Given the description of an element on the screen output the (x, y) to click on. 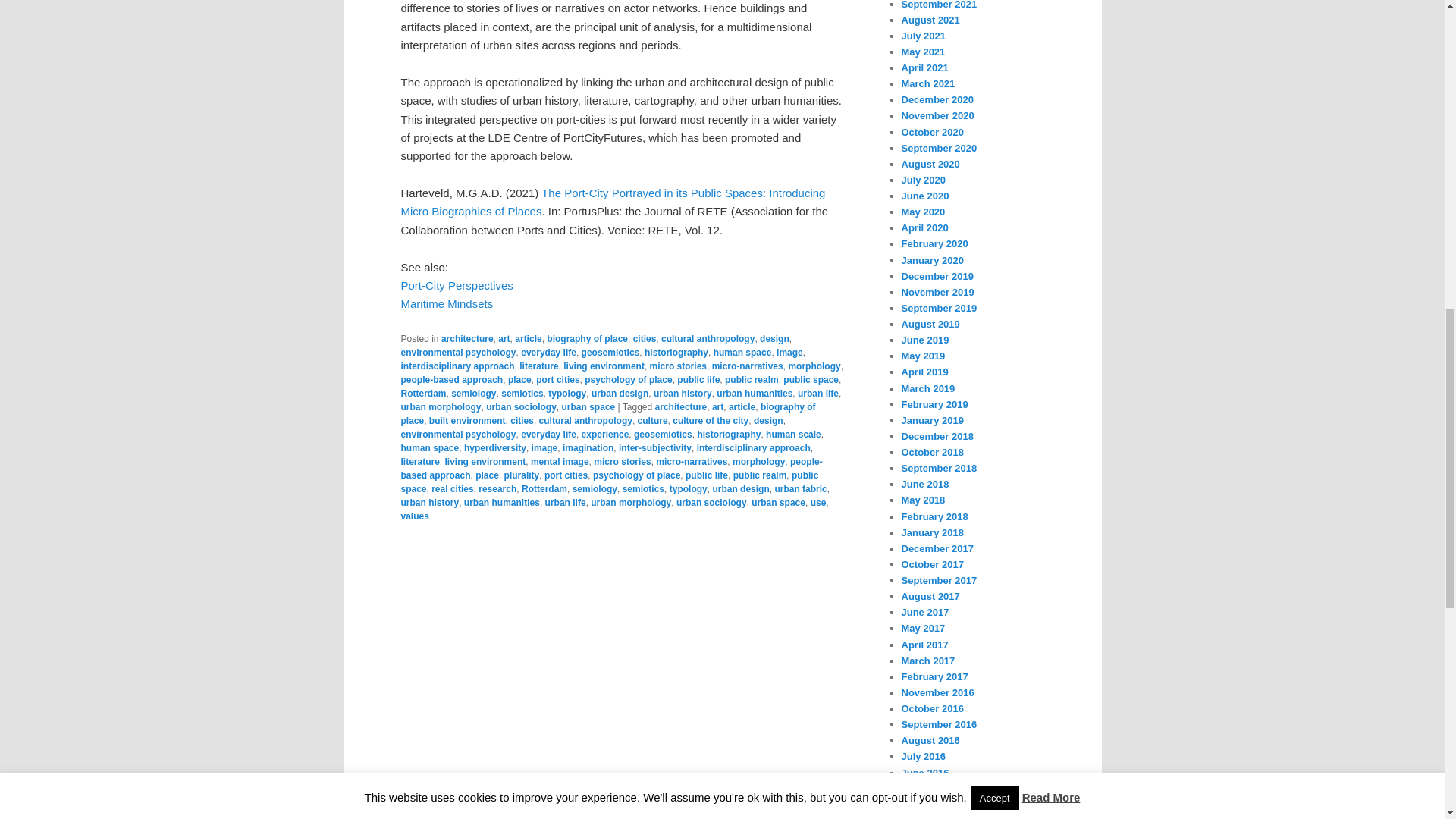
literature (538, 366)
everyday life (548, 352)
design (774, 338)
image (789, 352)
micro-narratives (747, 366)
architecture (467, 338)
morphology (813, 366)
public life (698, 379)
Maritime Mindsets (446, 303)
cities (644, 338)
environmental psychology (457, 352)
historiography (676, 352)
public realm (751, 379)
living environment (604, 366)
place (519, 379)
